Given the description of an element on the screen output the (x, y) to click on. 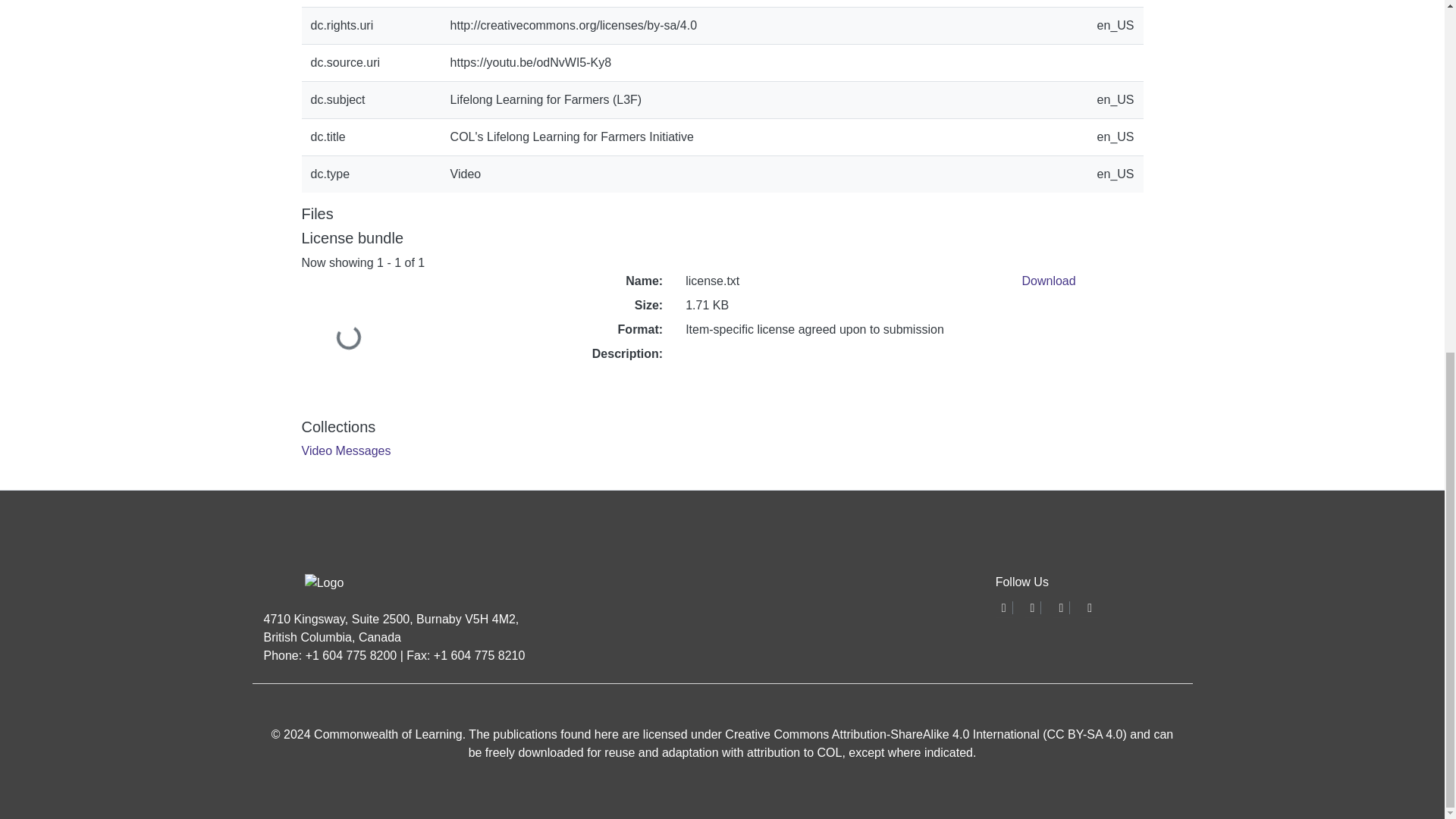
undefined (1060, 607)
undefined (1089, 607)
Download (1048, 280)
Video Messages (346, 450)
undefined (1003, 607)
undefined (1033, 607)
